Given the description of an element on the screen output the (x, y) to click on. 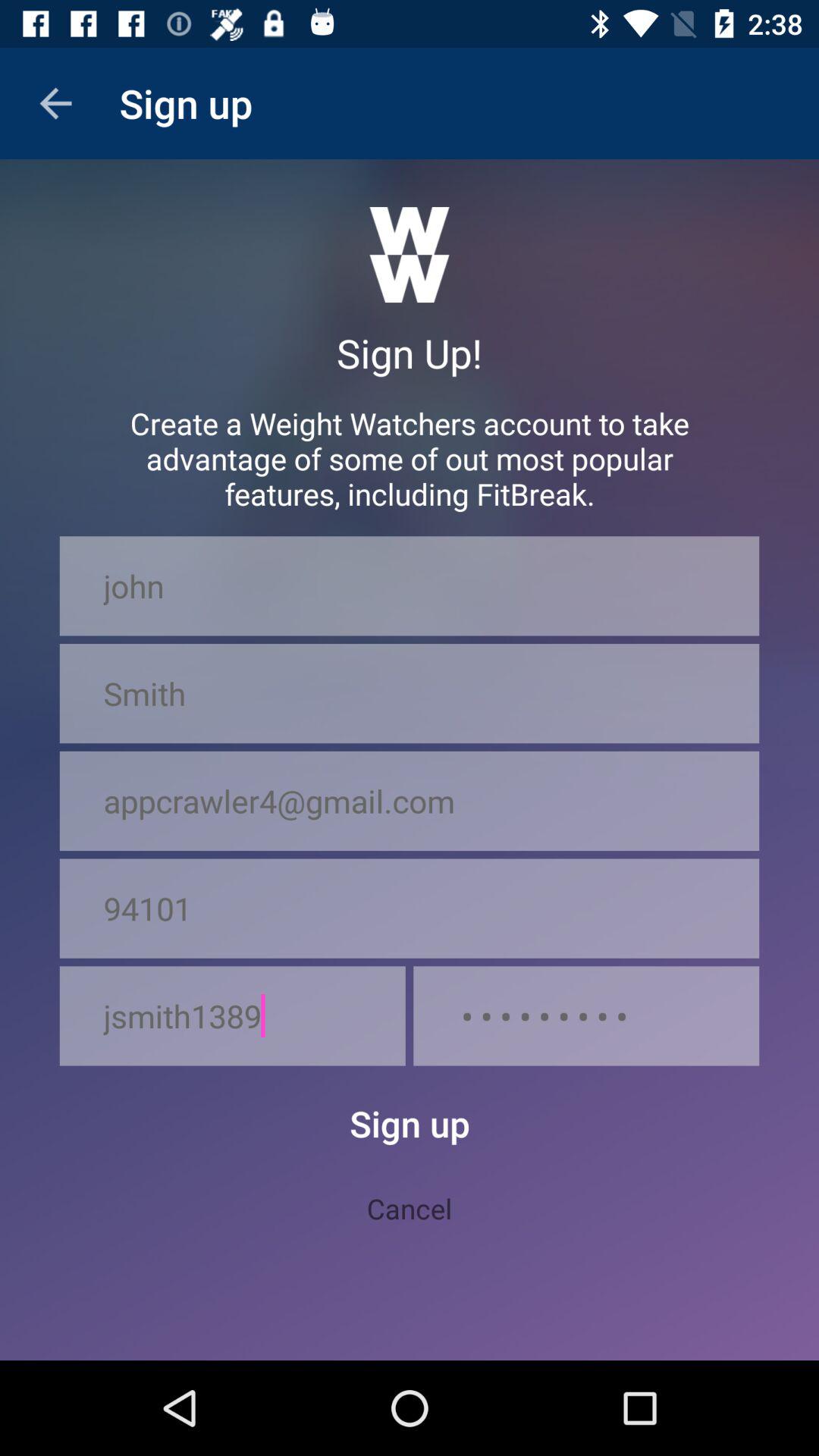
scroll to the john (409, 585)
